Given the description of an element on the screen output the (x, y) to click on. 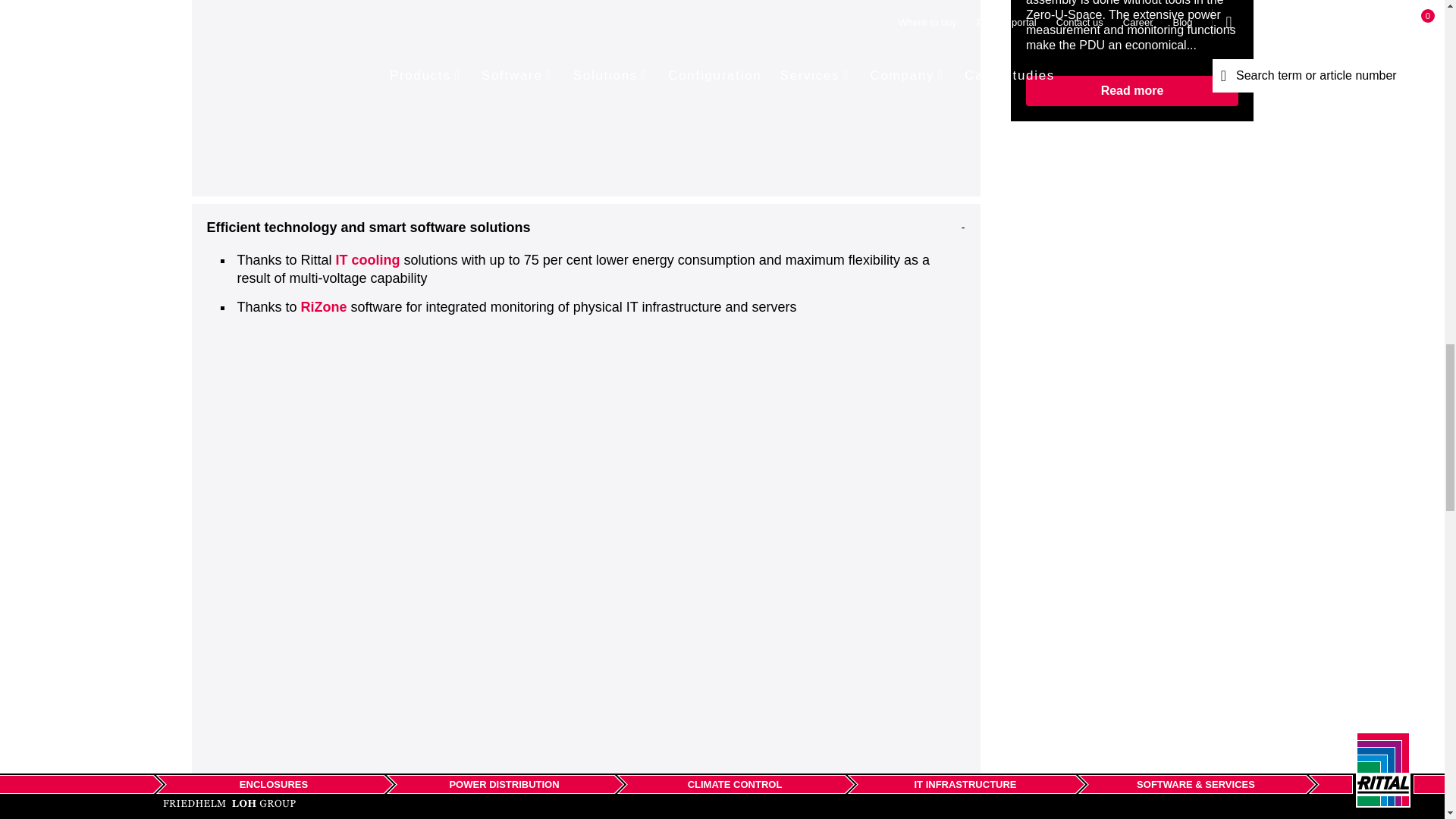
RiZone (324, 306)
IT cooling (368, 259)
Efficient technology and smart software solutions (584, 226)
